Given the description of an element on the screen output the (x, y) to click on. 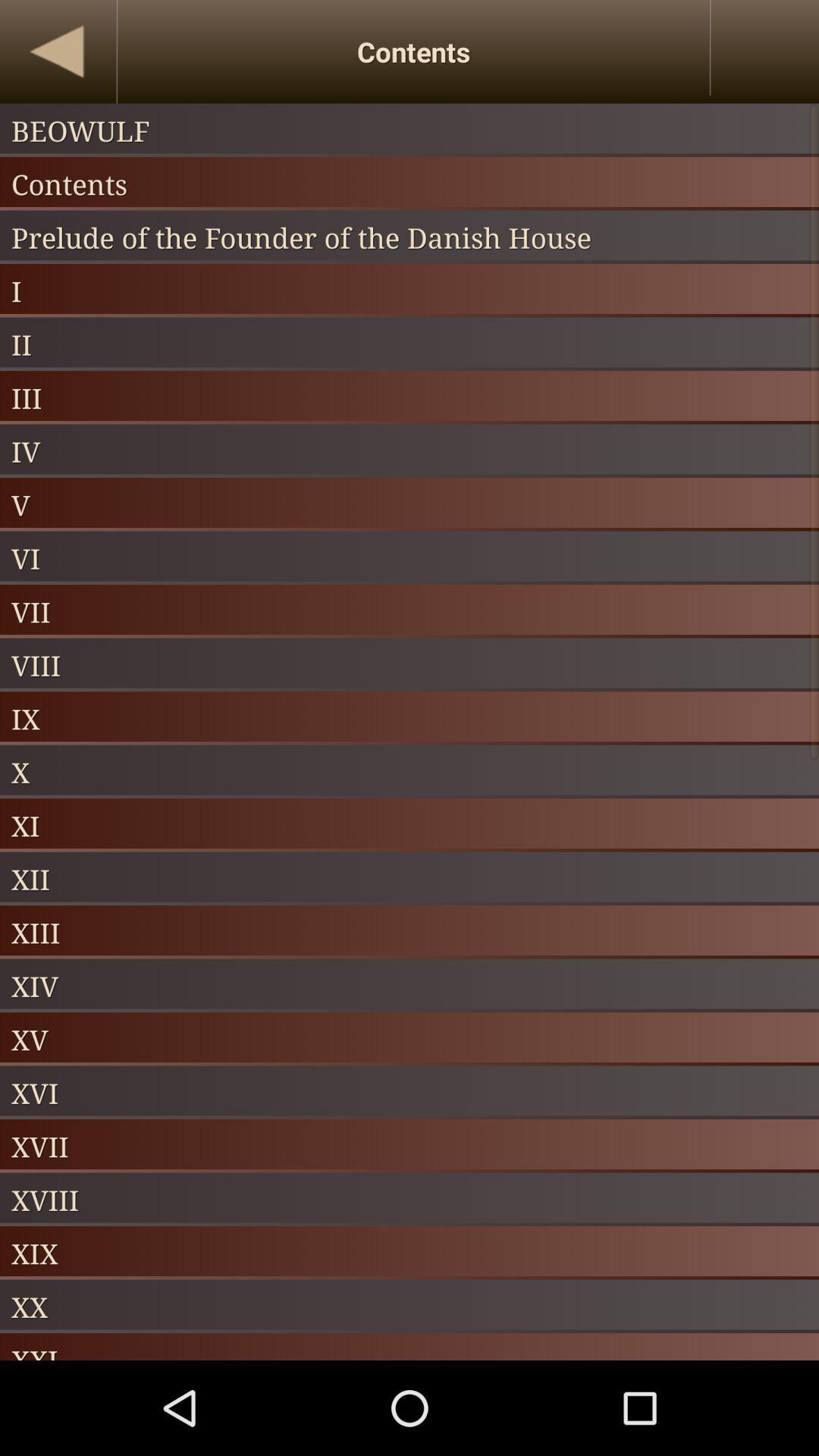
open item above xvii (409, 1092)
